Given the description of an element on the screen output the (x, y) to click on. 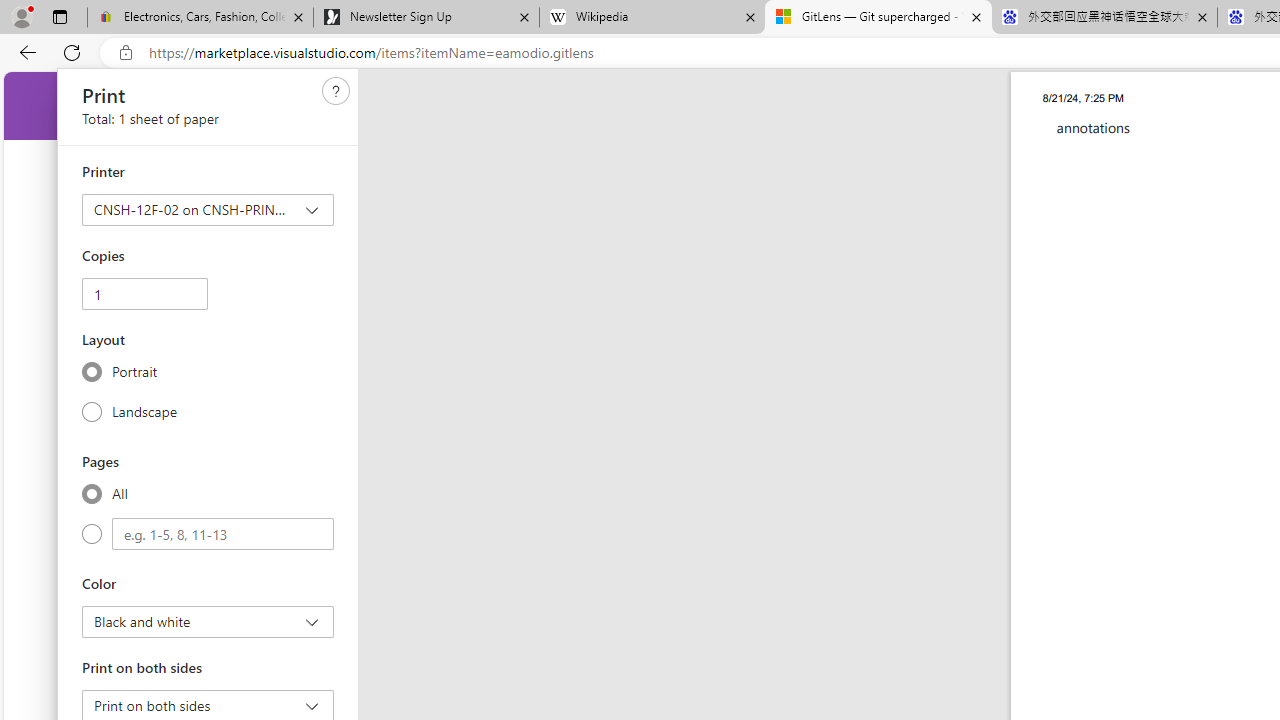
Printer CNSH-12F-02 on CNSH-PRINT-01 (207, 209)
All (91, 493)
Portrait (91, 372)
Landscape (91, 411)
Color Black and white (207, 621)
Copies (144, 293)
Custom (223, 533)
Custom (91, 534)
Class: c0129 (335, 90)
Need help (335, 91)
